Given the description of an element on the screen output the (x, y) to click on. 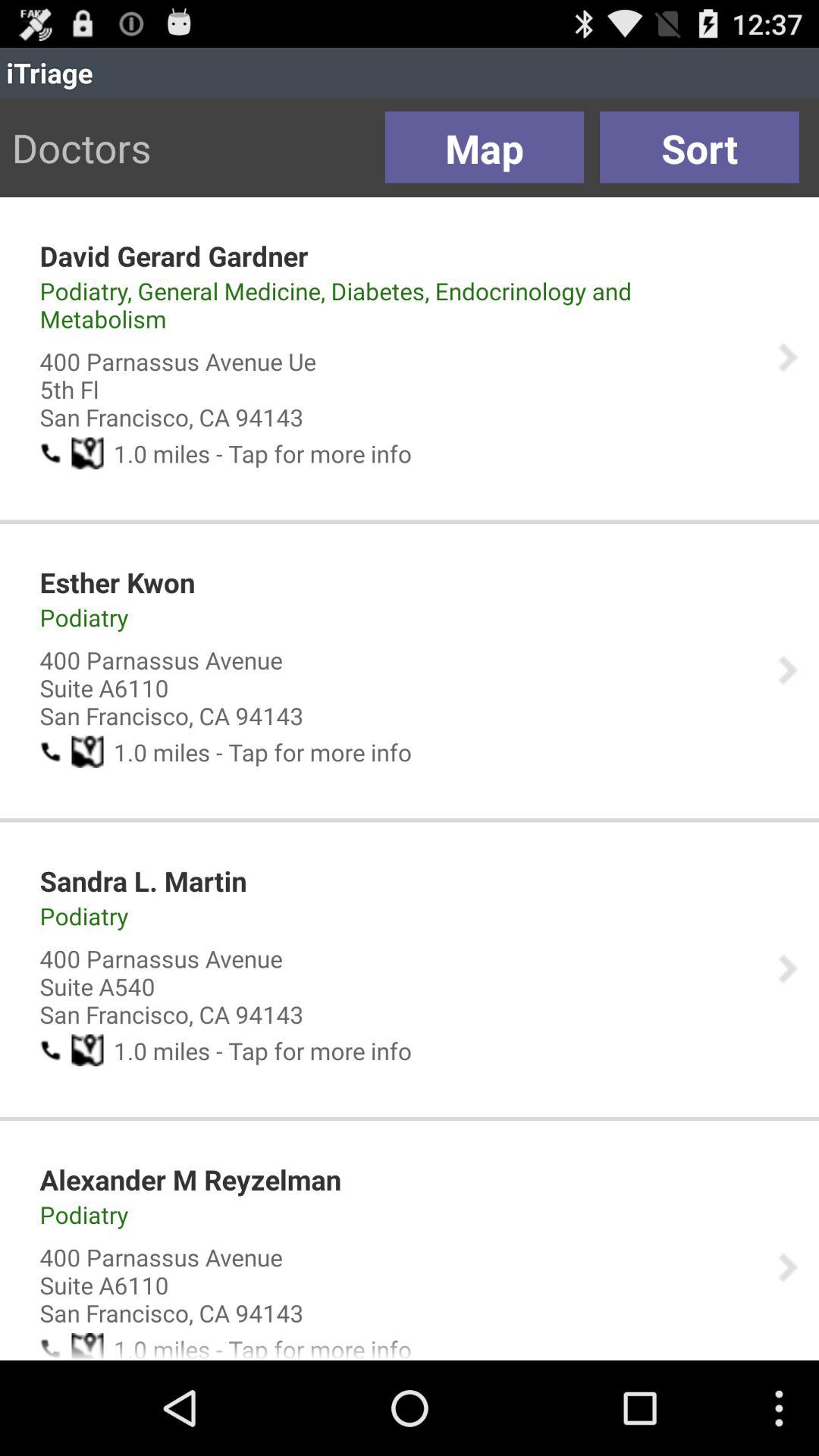
tap the sandra l. martin icon (142, 880)
